Given the description of an element on the screen output the (x, y) to click on. 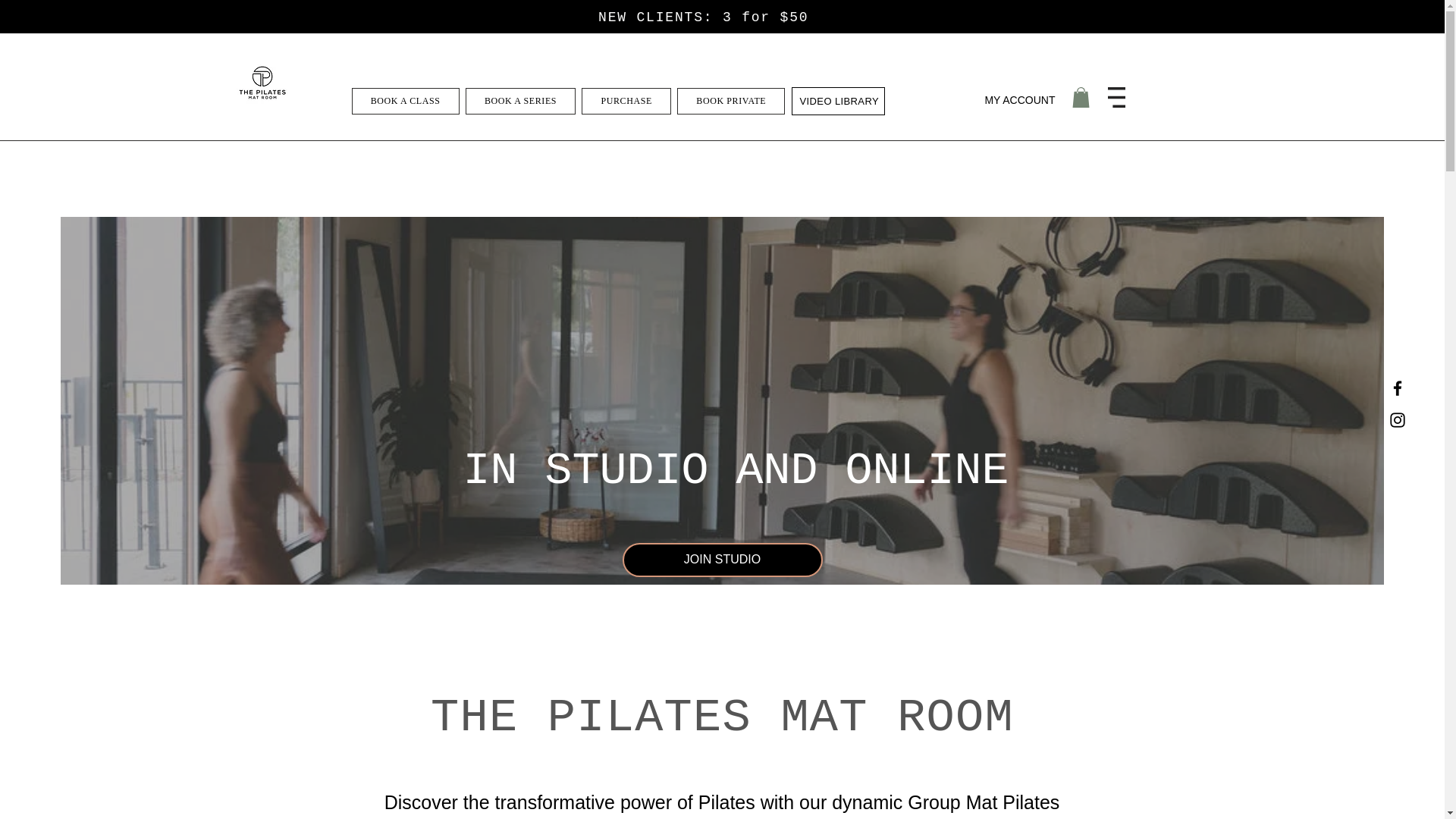
JOIN STUDIO (721, 559)
BOOK A SERIES (520, 100)
MY ACCOUNT (1019, 100)
BOOK A CLASS (406, 100)
